Given the description of an element on the screen output the (x, y) to click on. 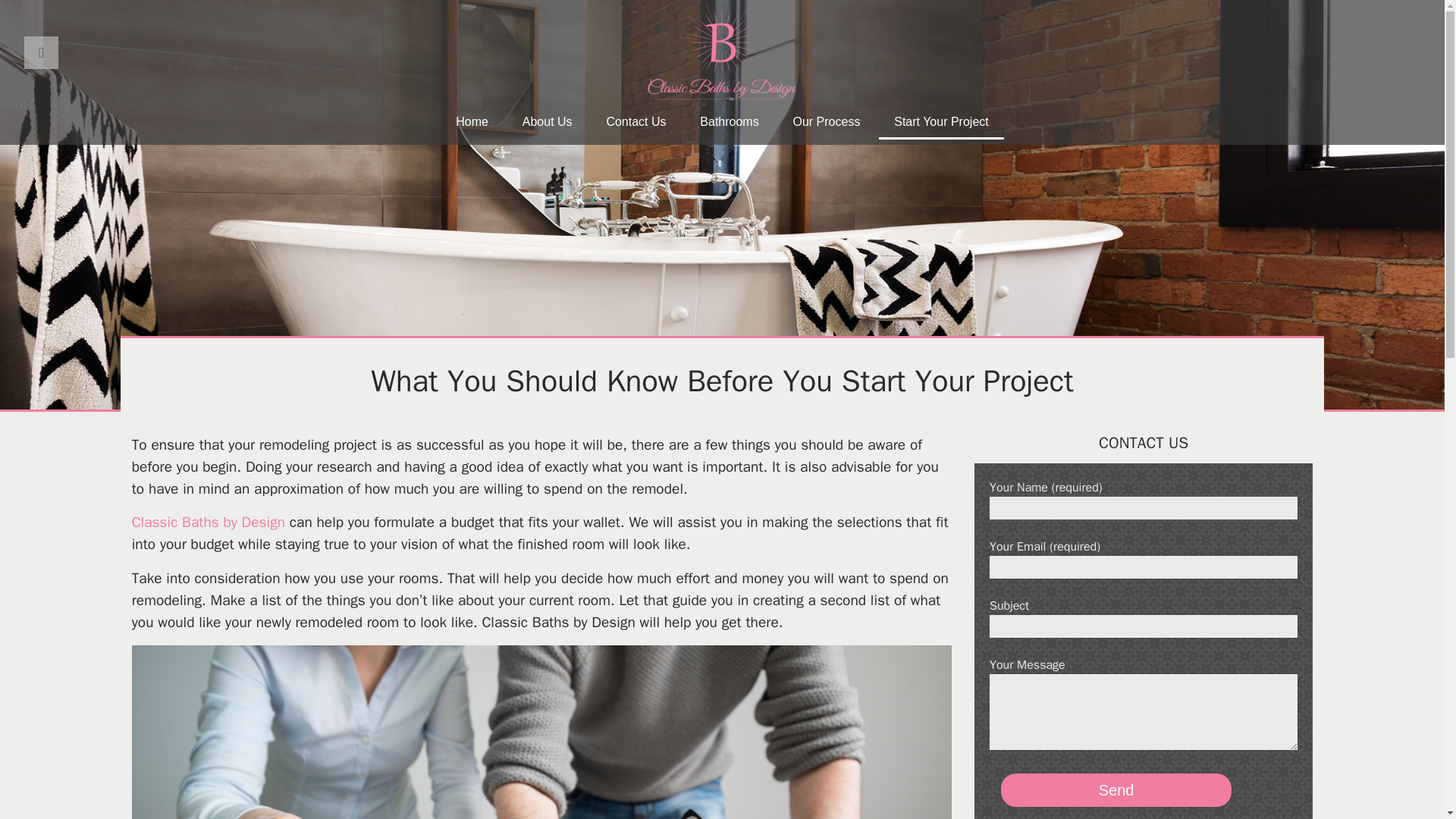
Alpharetta GA Bathroom Designs, Remodeling (208, 522)
Home (472, 123)
Our Process (826, 123)
Send (1116, 789)
Send (1116, 789)
Bathrooms (728, 123)
Classic Baths by Design (208, 522)
About Us (547, 123)
Toggle High Contrast (41, 52)
Contact Us (636, 123)
Start Your Project (941, 123)
